Given the description of an element on the screen output the (x, y) to click on. 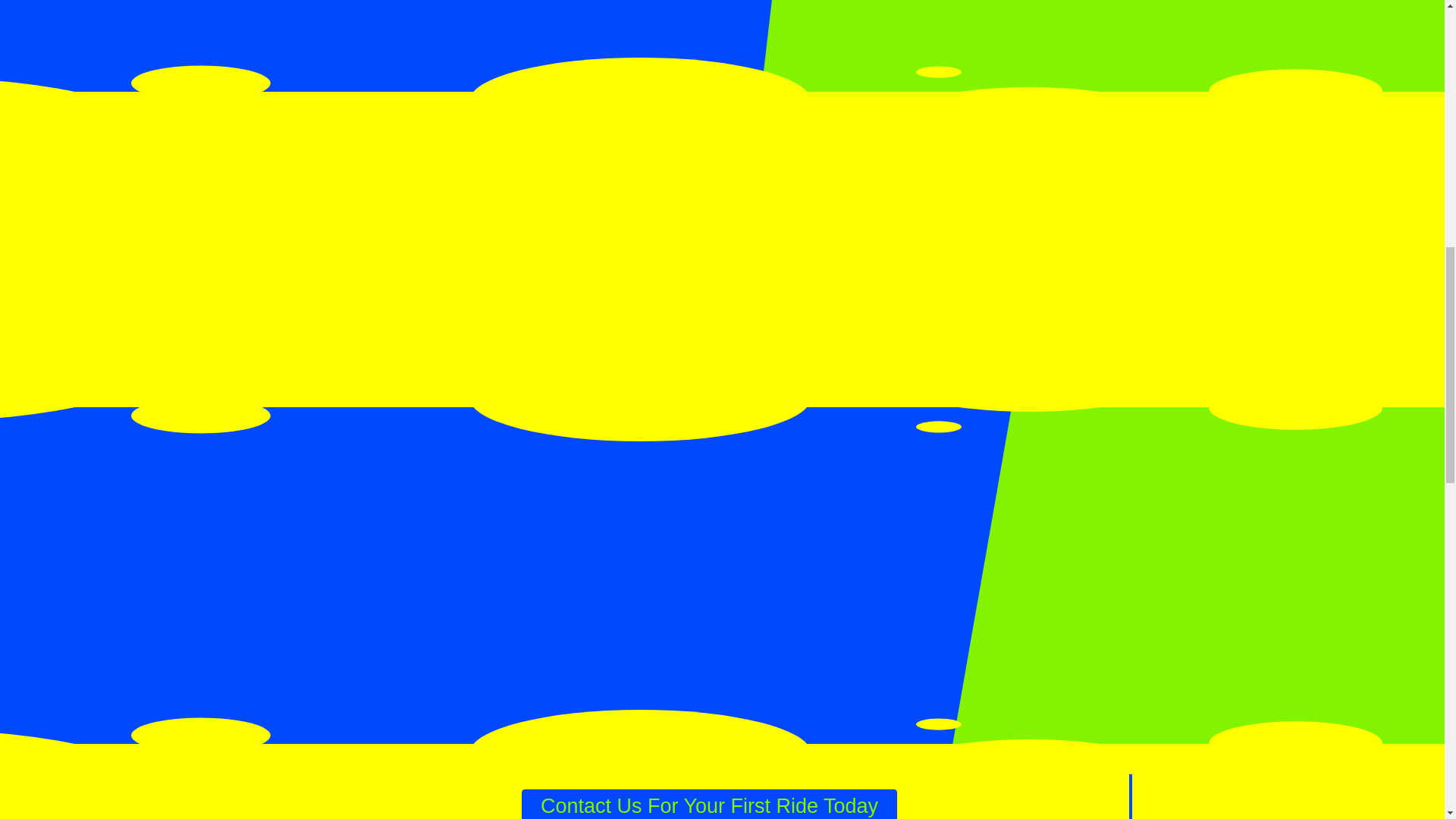
Contact Us For Your First Ride Today (708, 804)
